Given the description of an element on the screen output the (x, y) to click on. 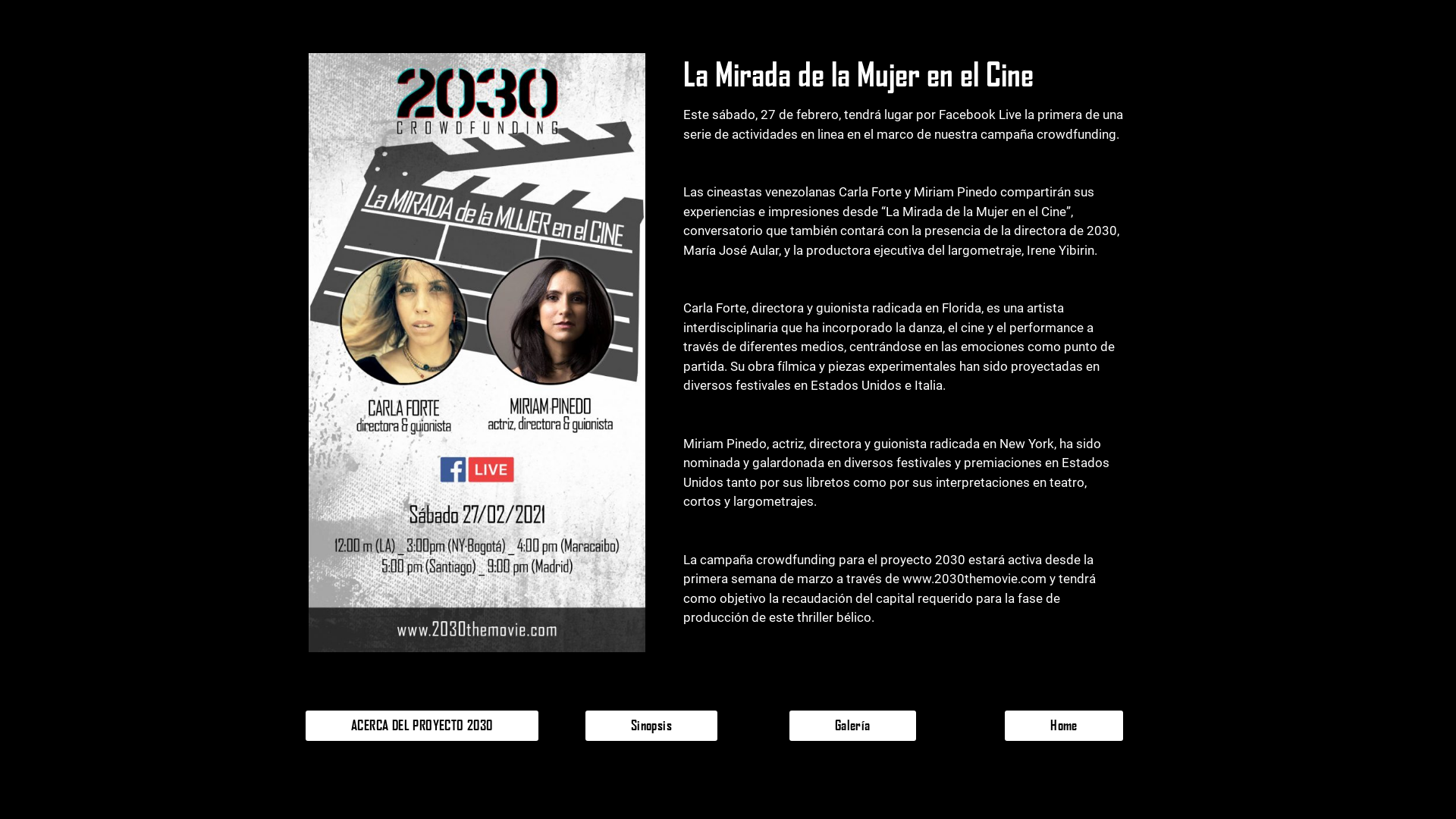
Home Element type: text (1063, 725)
Sinopsis Element type: text (651, 725)
ACERCA DEL PROYECTO 2030 Element type: text (421, 725)
